Given the description of an element on the screen output the (x, y) to click on. 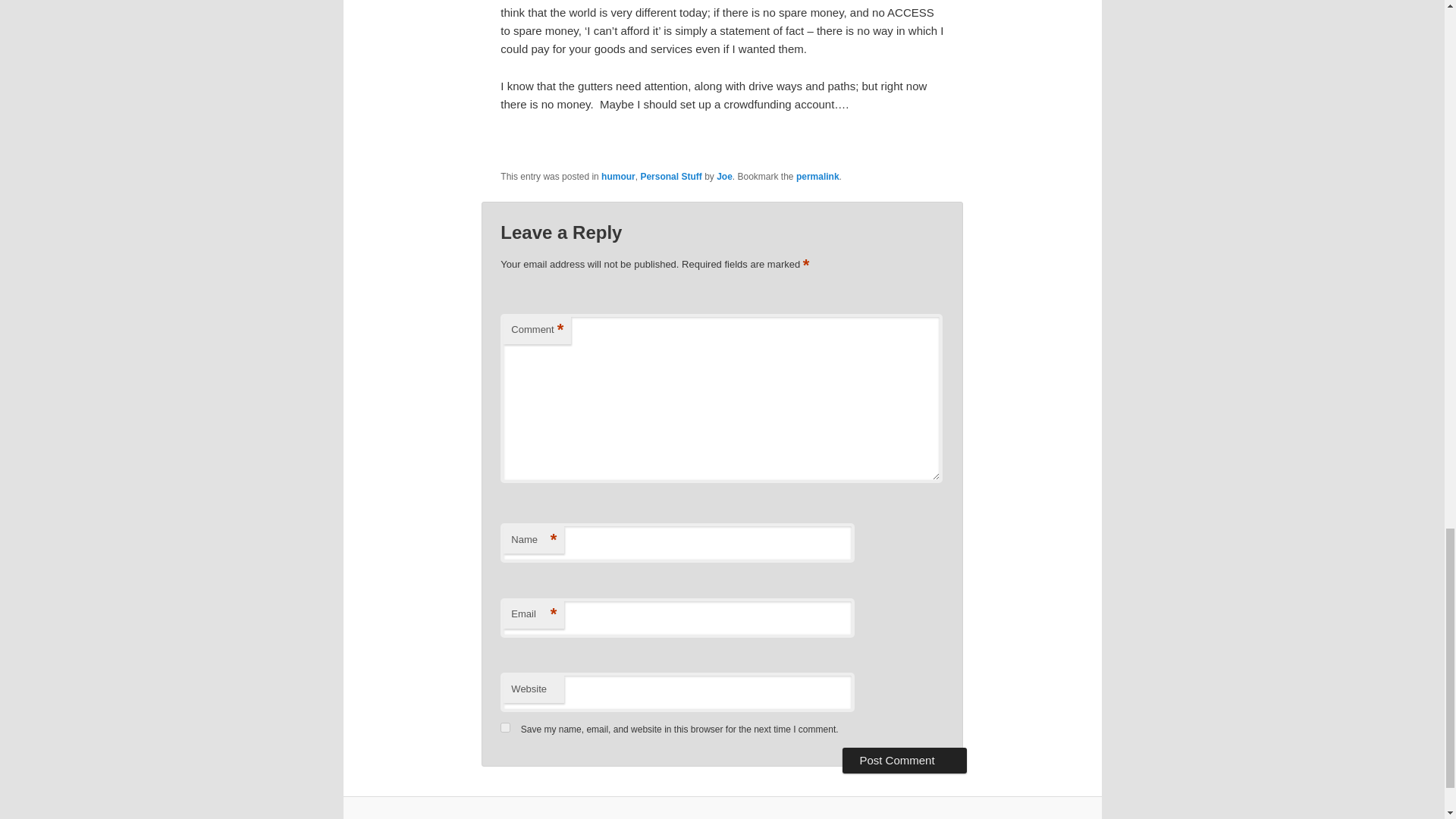
permalink (818, 176)
Personal Stuff (670, 176)
Joe (724, 176)
yes (505, 727)
Post Comment (904, 760)
Post Comment (904, 760)
humour (617, 176)
